Given the description of an element on the screen output the (x, y) to click on. 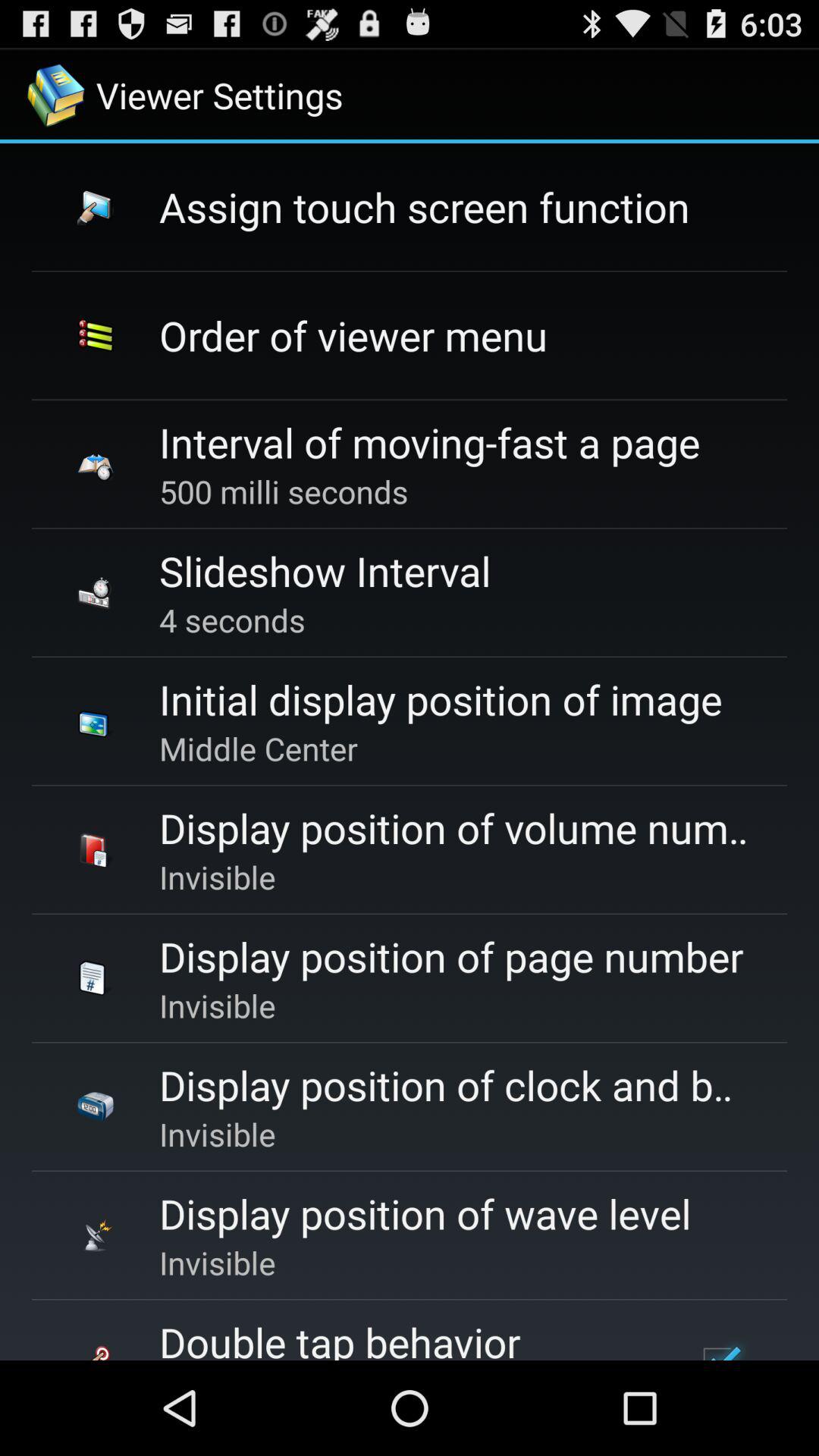
jump until the interval of moving icon (429, 441)
